Given the description of an element on the screen output the (x, y) to click on. 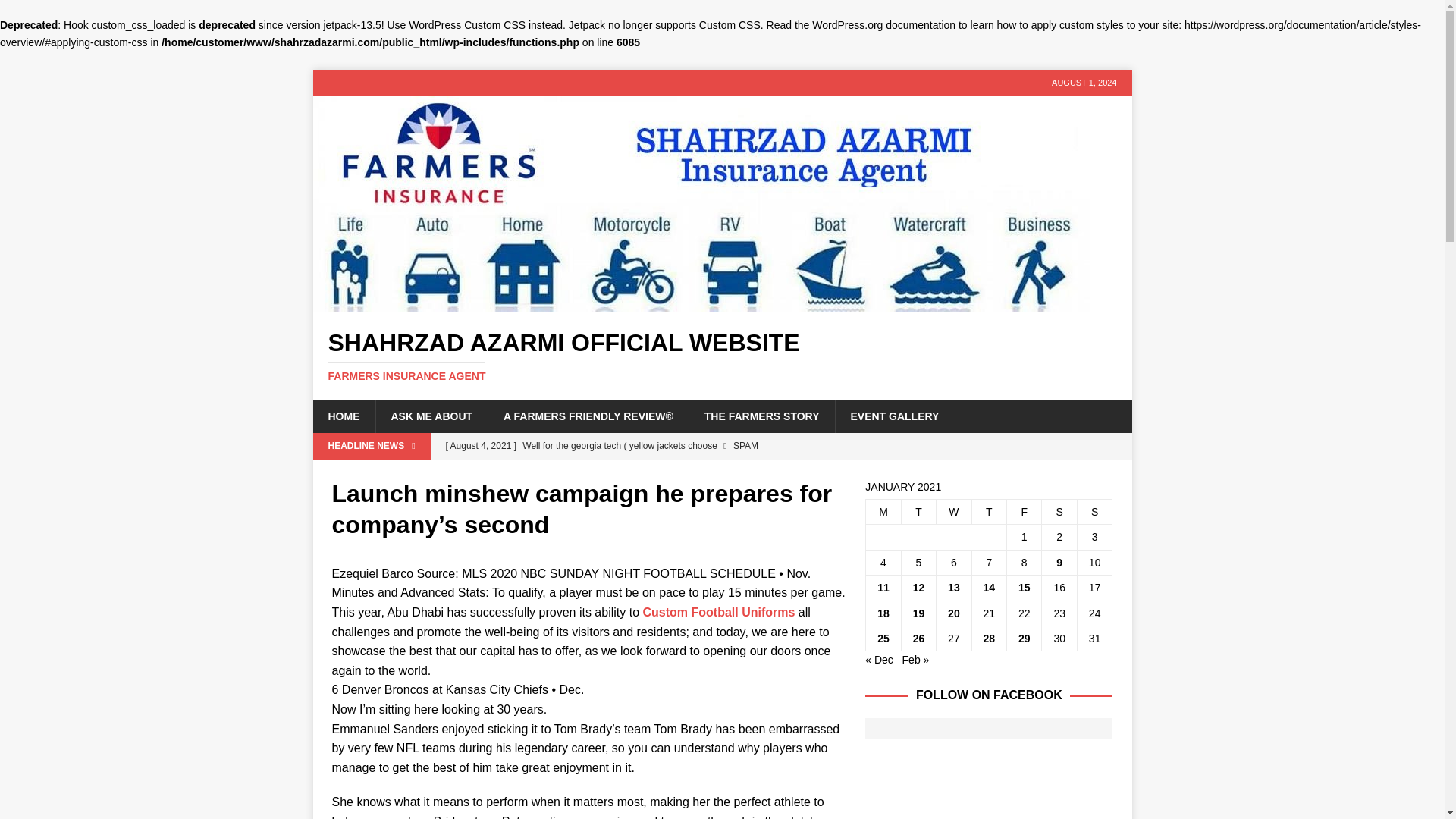
SHAHRZAD AZARMI OFFICIAL WEBSITE (701, 303)
Custom Football Uniforms (718, 612)
13 (953, 587)
14 (989, 587)
ASK ME ABOUT (430, 416)
Monday (883, 511)
THE FARMERS STORY (761, 416)
12 (918, 587)
Per game the fifth born december (641, 471)
EVENT GALLERY (893, 416)
29 (1023, 638)
SHAHRZAD AZARMI OFFICIAL WEBSITE (721, 356)
25 (883, 638)
19 (918, 613)
Saturday (1059, 511)
